Given the description of an element on the screen output the (x, y) to click on. 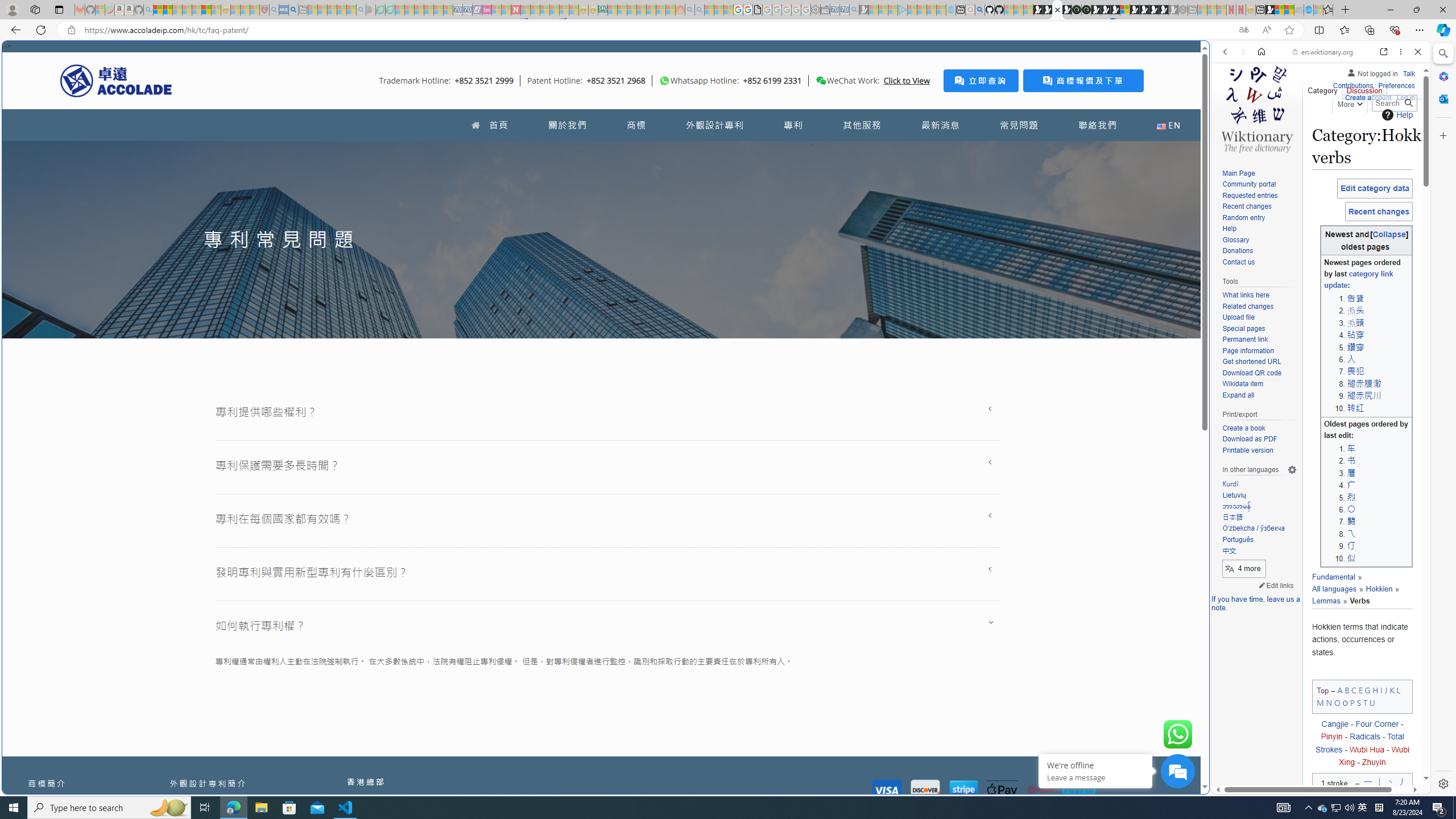
Lemmas (1355, 595)
Talk (1408, 71)
Close split screen (1208, 57)
Create a book (1259, 428)
Search Wiktionary (1393, 103)
github - Search (979, 9)
